Given the description of an element on the screen output the (x, y) to click on. 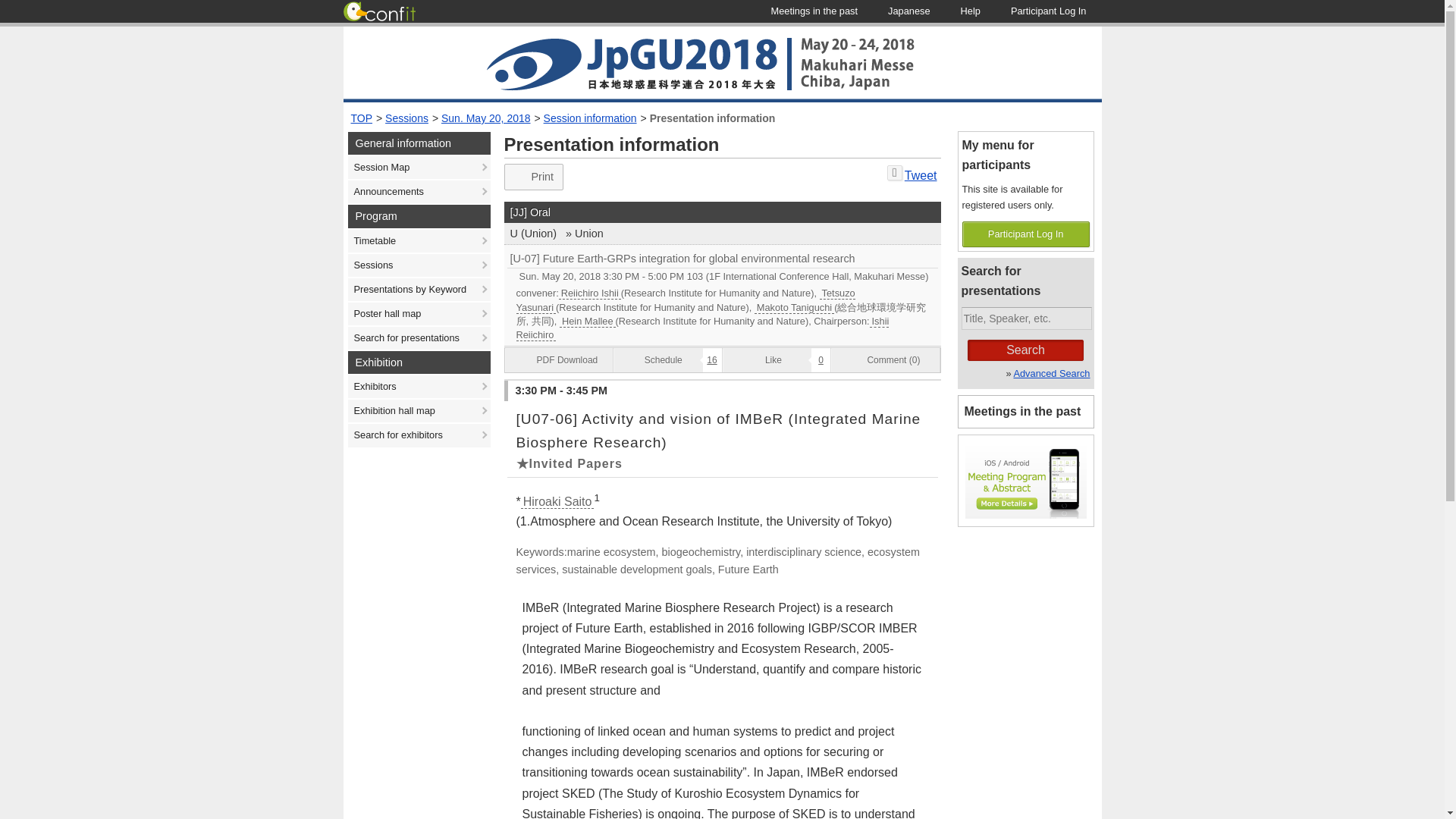
Schedule (601, 276)
Sun. May 20, 2018 (486, 118)
Presentations by Keyword (418, 289)
Comment (885, 360)
Sessions (406, 118)
Session information (590, 118)
Secondary (585, 233)
Search for exhibitors (418, 435)
Presentation title. (721, 430)
Timetable (418, 241)
